Given the description of an element on the screen output the (x, y) to click on. 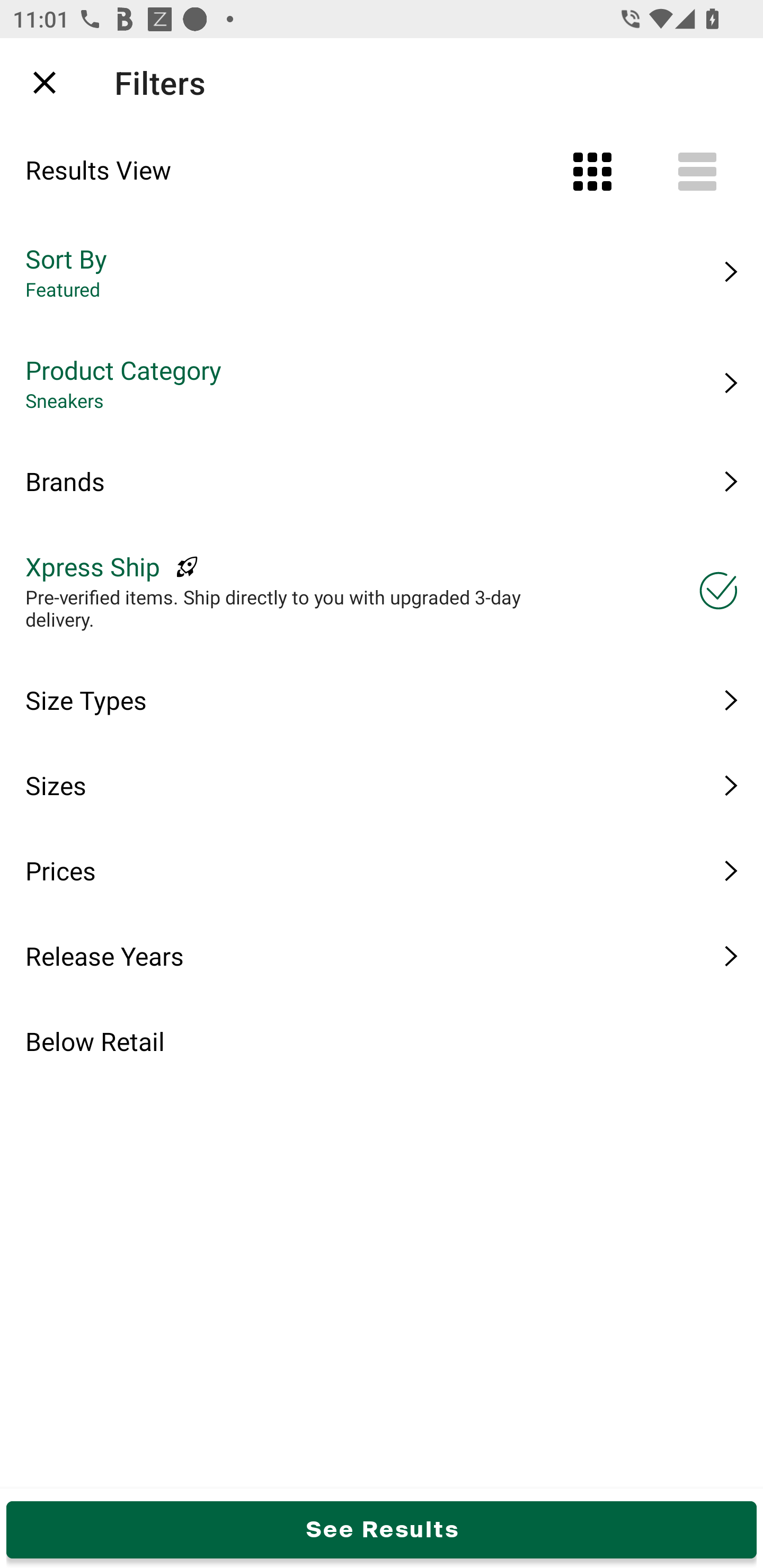
Search by brand, color, etc. (351, 82)
Grid View (591, 171)
List View (697, 171)
Sort By Featured Next (381, 271)
Product Category Sneakers Next (381, 383)
Brands Next (381, 481)
Size Types Next (381, 699)
Sizes Next (381, 785)
Prices Next (381, 869)
Release Years Next (381, 955)
Below Retail (381, 1040)
See Results (381, 1529)
